Given the description of an element on the screen output the (x, y) to click on. 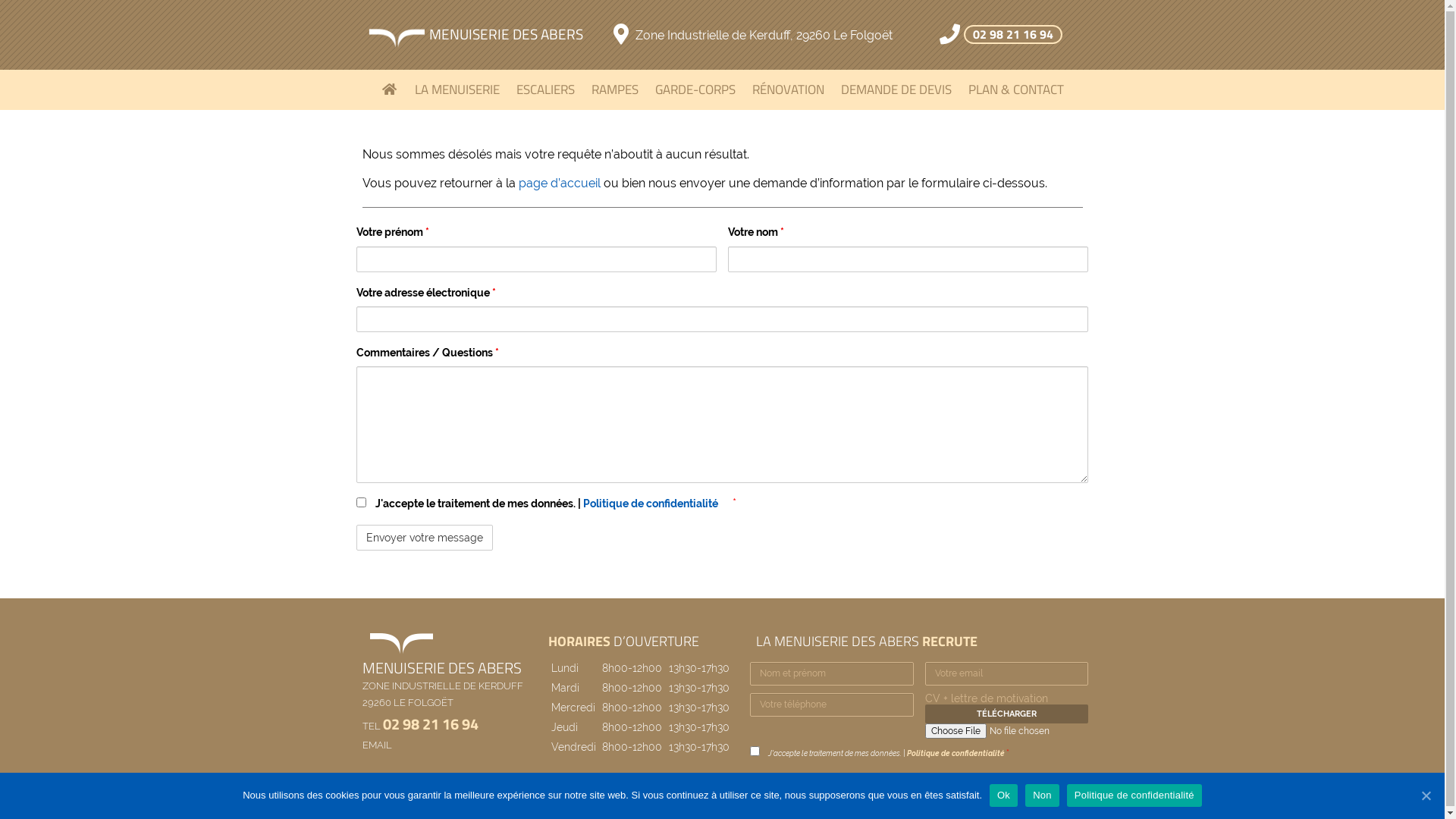
LA MENUISERIE Element type: text (457, 89)
Envoyer votre message Element type: text (424, 537)
Ok Element type: text (1003, 795)
Non Element type: text (1042, 795)
EMAIL Element type: text (377, 744)
DEMANDE DE DEVIS Element type: text (896, 89)
RAMPES Element type: text (614, 89)
PLAN & CONTACT Element type: text (1016, 89)
02 98 21 16 94 Element type: text (429, 723)
MENUISERIE DES ABERS Element type: text (474, 33)
GARDE-CORPS Element type: text (694, 89)
02 98 21 16 94 Element type: text (1012, 34)
ESCALIERS Element type: text (545, 89)
